Given the description of an element on the screen output the (x, y) to click on. 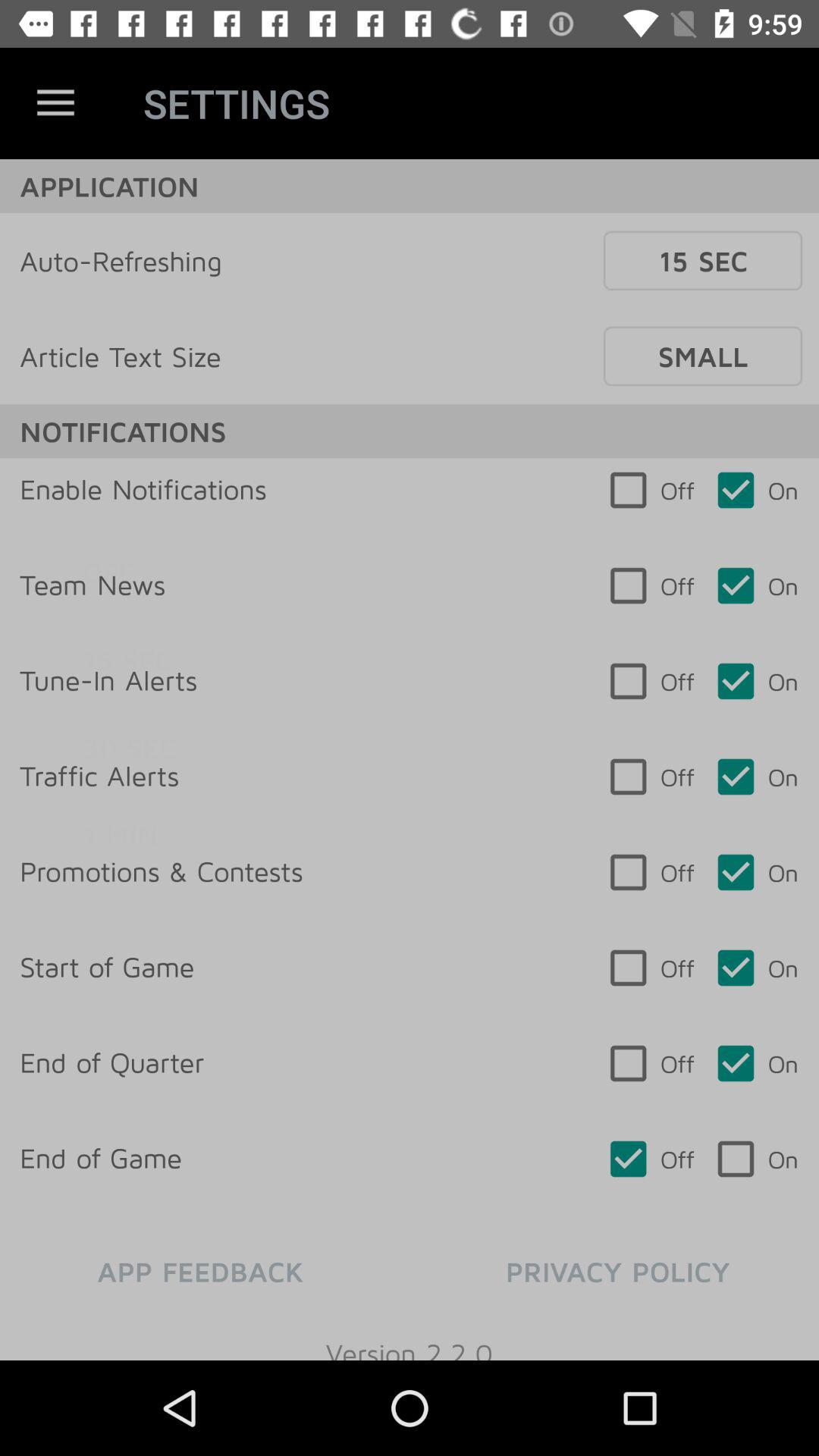
choose version 2 2 (409, 1338)
